Given the description of an element on the screen output the (x, y) to click on. 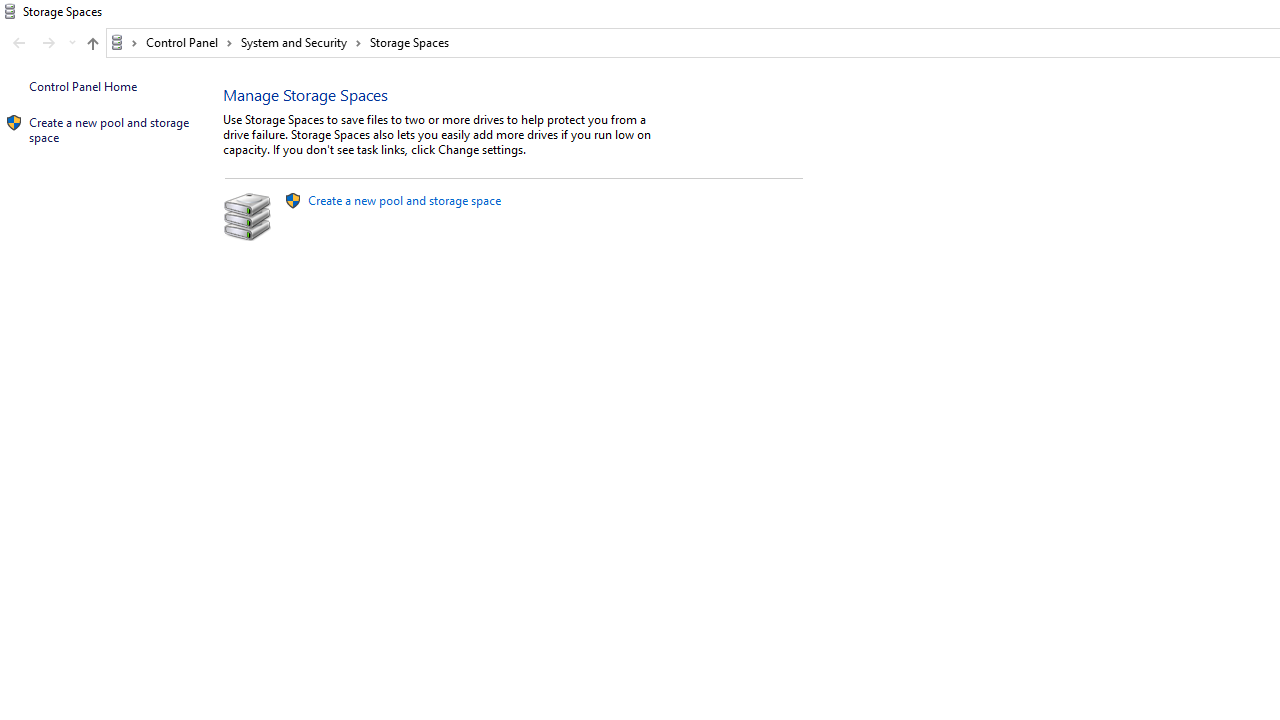
Create a new pool and storage space (404, 200)
System (10, 11)
Icon (13, 123)
Up band toolbar (92, 46)
System (10, 11)
Back (Alt + Left Arrow) (18, 43)
Up to "System and Security" (Alt + Up Arrow) (92, 43)
Control Panel (189, 42)
Navigation buttons (41, 43)
Storage Spaces (409, 42)
Recent locations (71, 43)
Control Panel Home (82, 86)
All locations (124, 42)
System and Security (301, 42)
Forward (Alt + Right Arrow) (49, 43)
